Given the description of an element on the screen output the (x, y) to click on. 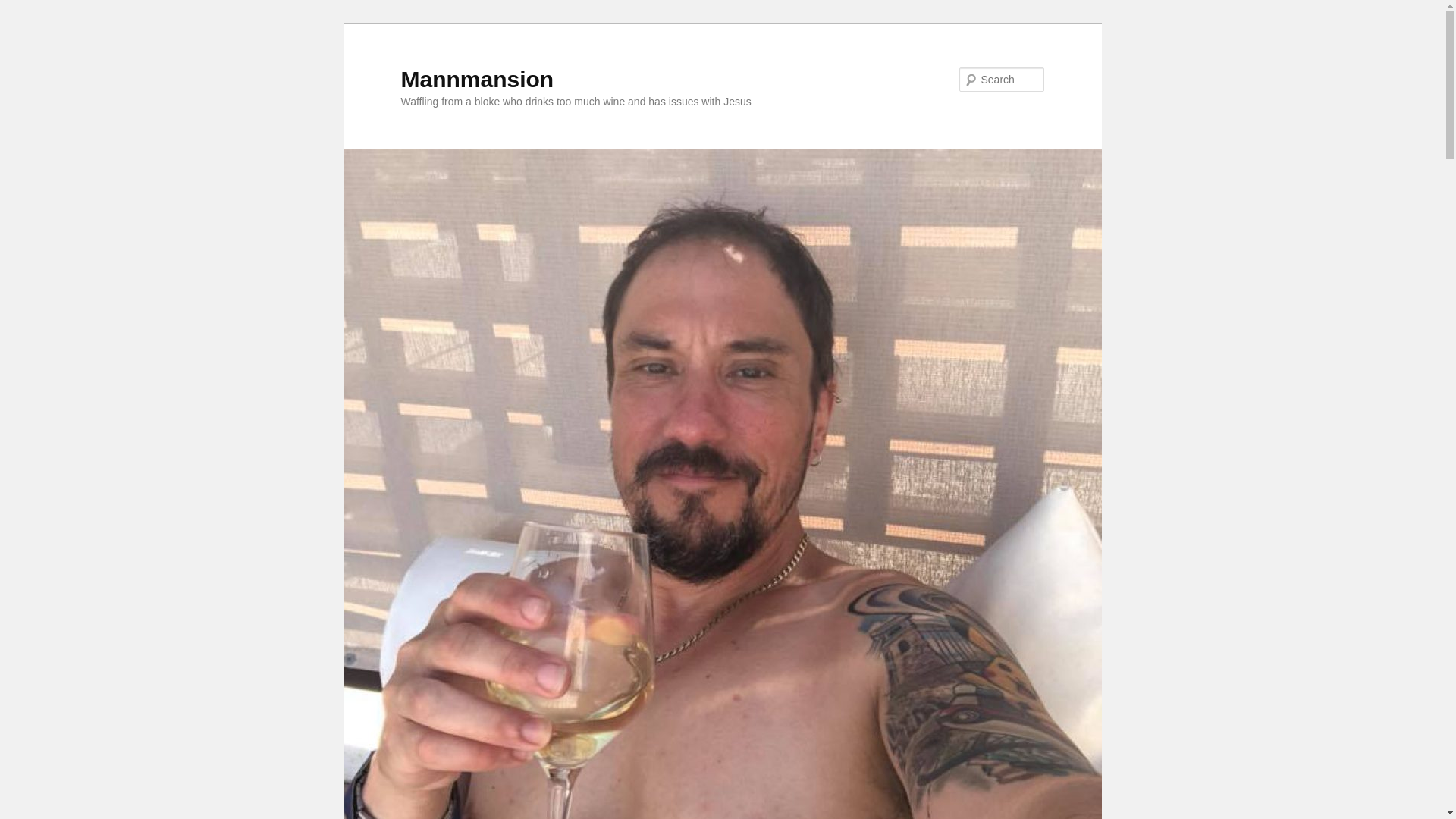
Search (24, 8)
Mannmansion (476, 78)
